Given the description of an element on the screen output the (x, y) to click on. 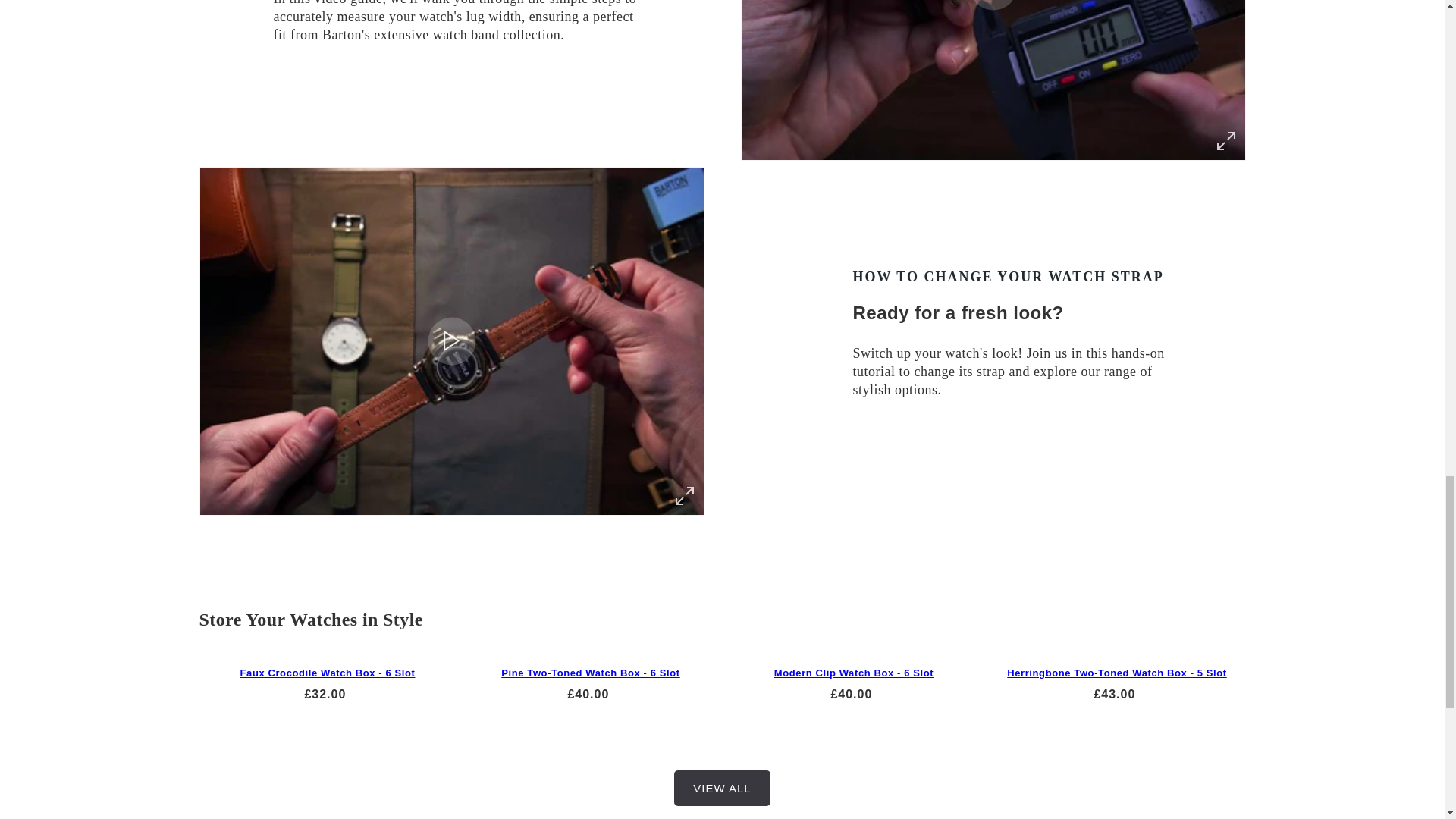
Right band fit, right here. (992, 79)
